Given the description of an element on the screen output the (x, y) to click on. 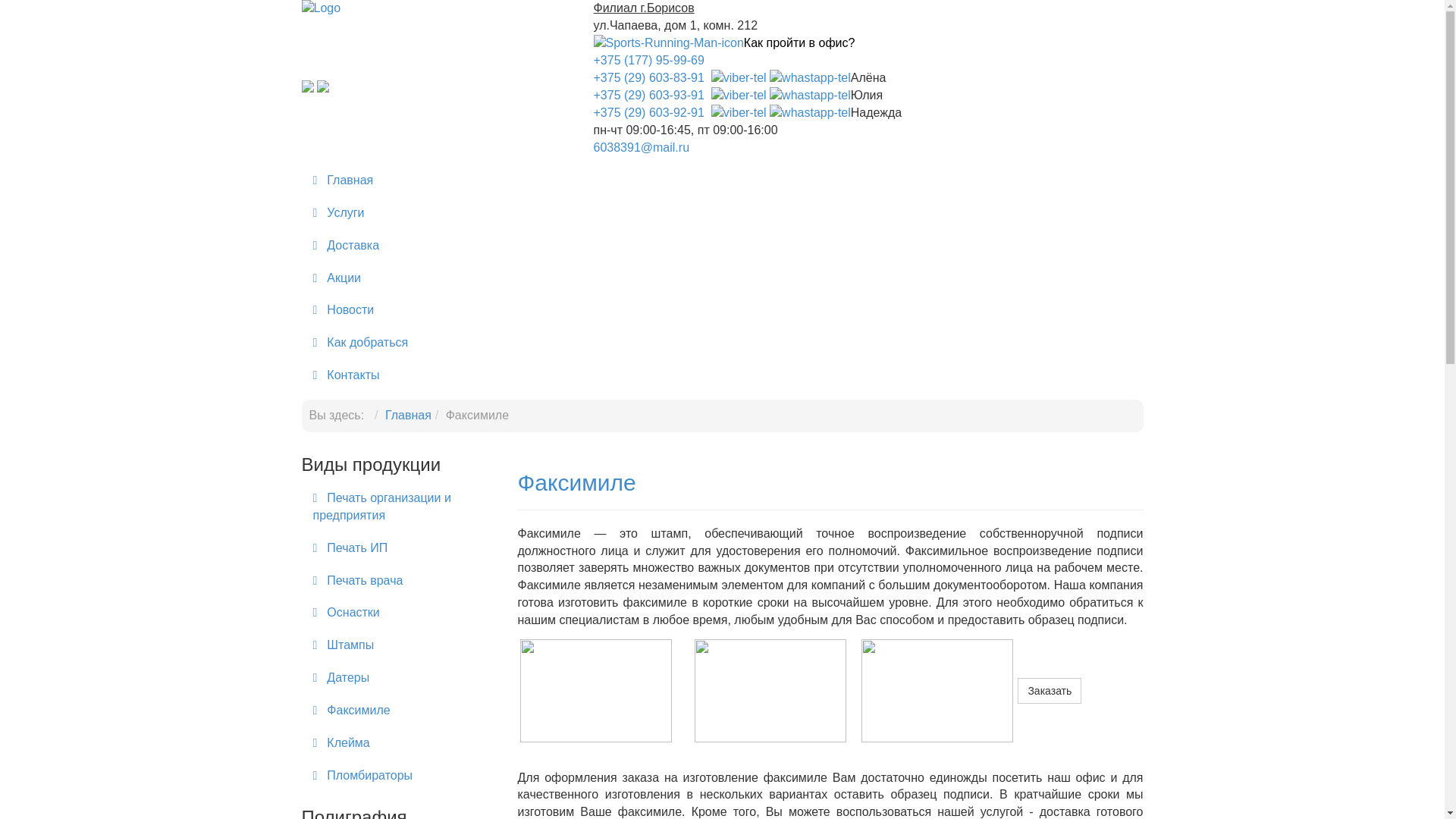
+375 (177) 95-99-69  Element type: text (656, 59)
6038391@mail.ru Element type: text (641, 147)
WhatsApp Element type: hover (809, 94)
+375 (29) 603-83-91  Element type: text (650, 77)
WhatsApp Element type: hover (809, 112)
+375 (29) 603-92-91  Element type: text (650, 112)
+375 (29) 603-93-91  Element type: text (650, 94)
WhatsApp Element type: hover (809, 77)
